Given the description of an element on the screen output the (x, y) to click on. 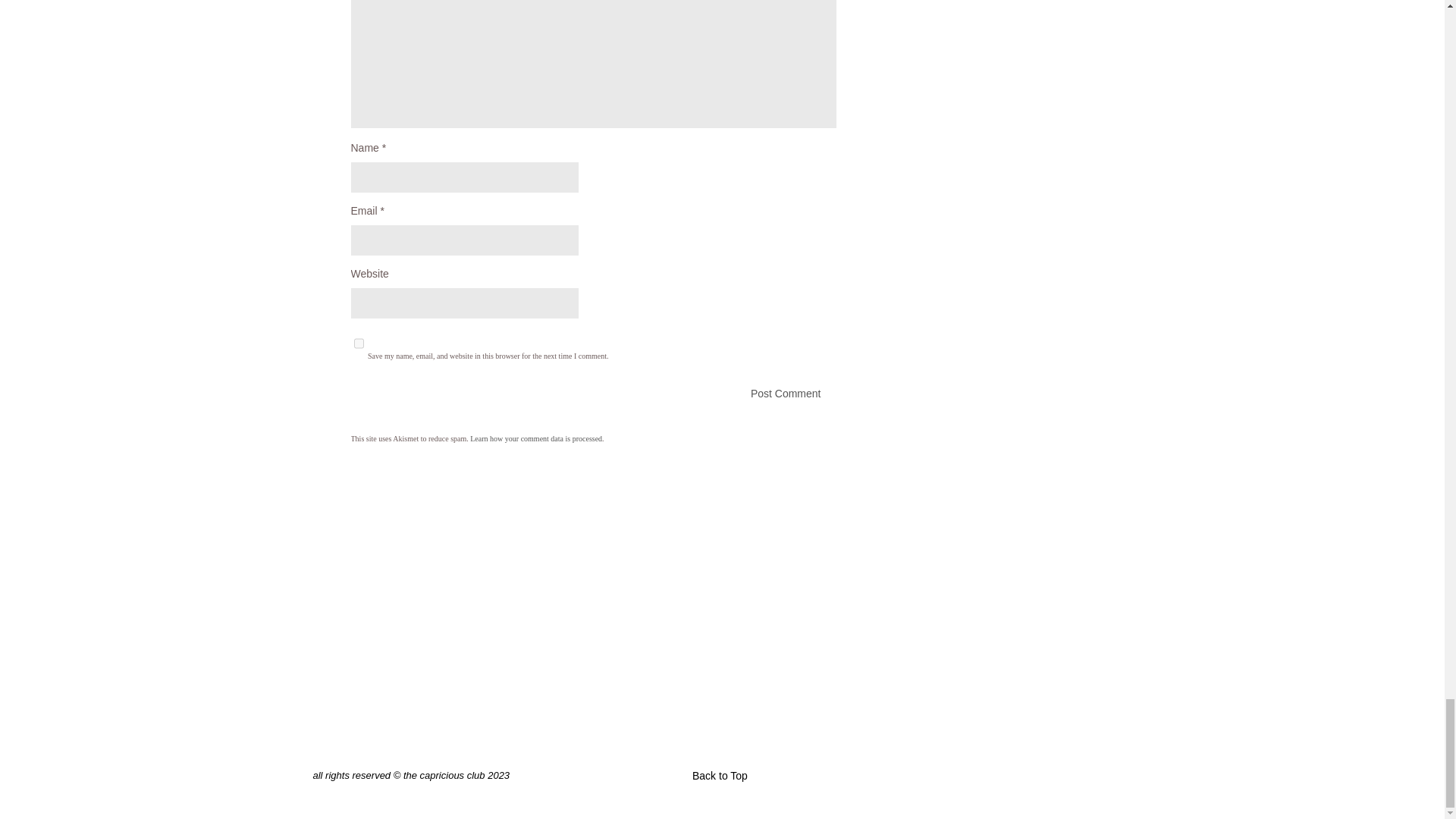
yes (357, 343)
Post Comment (592, 393)
